Given the description of an element on the screen output the (x, y) to click on. 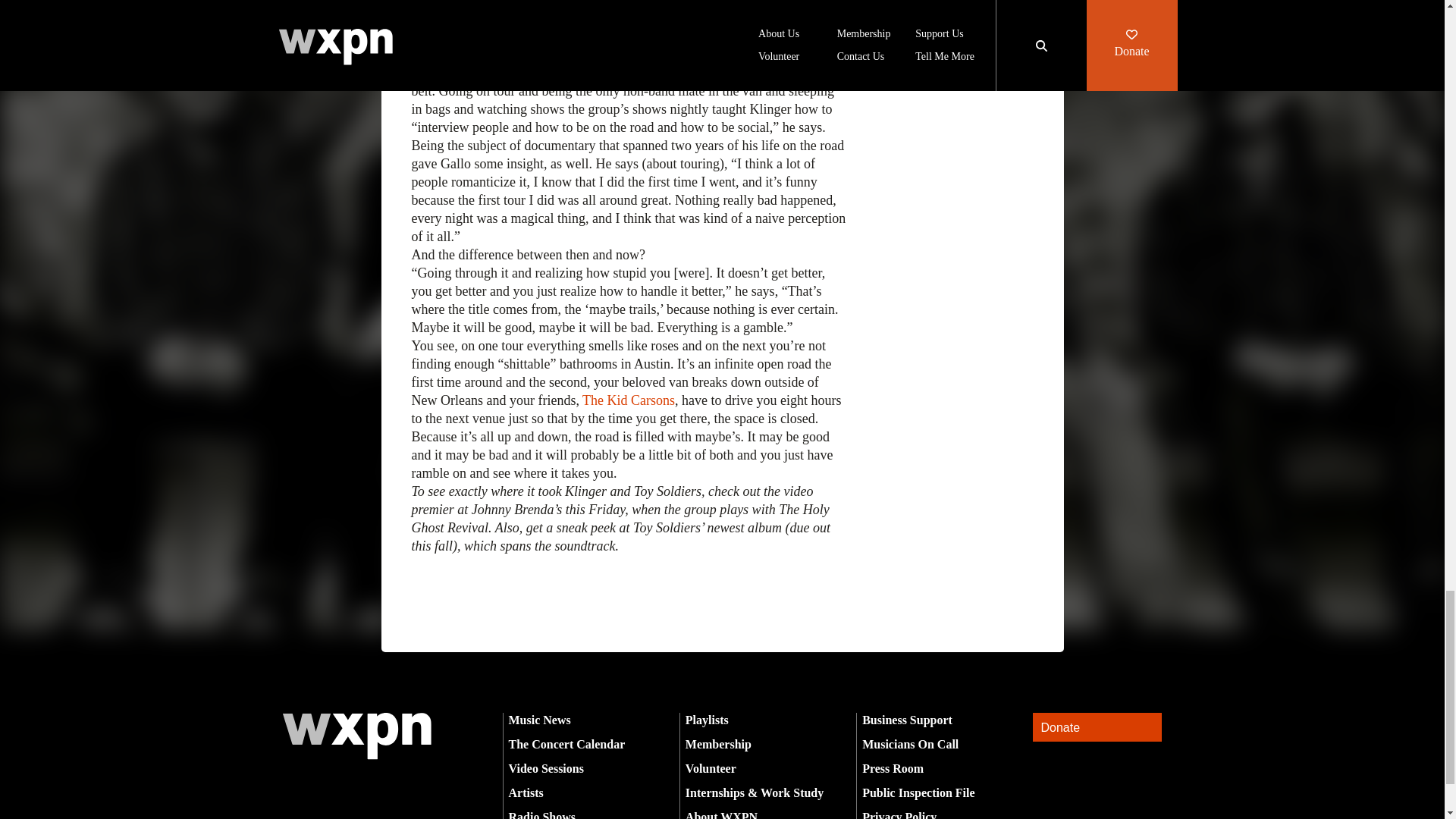
Business Support (906, 719)
Music News (539, 719)
The Concert Calendar (566, 744)
Donate (1096, 727)
Volunteer (710, 768)
Privacy Policy (898, 814)
Press Room (892, 768)
Musicians On Call (909, 744)
Video Sessions (545, 768)
About WXPN (721, 814)
